Given the description of an element on the screen output the (x, y) to click on. 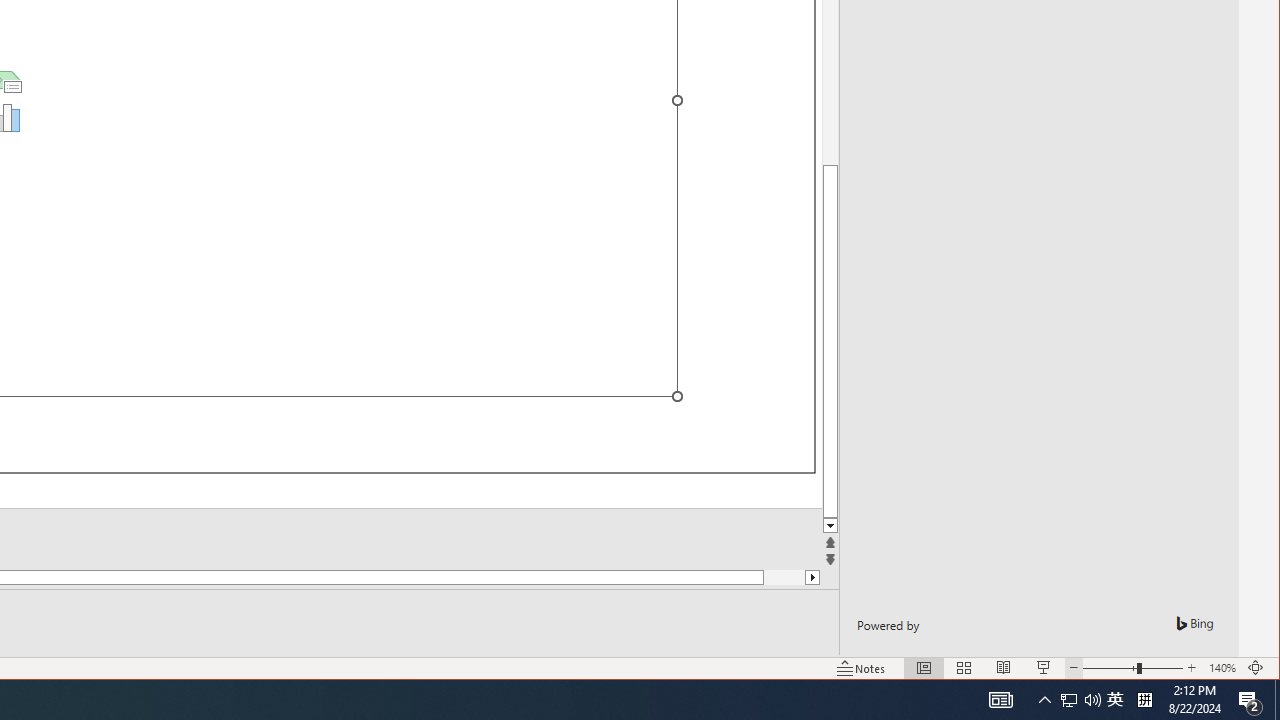
Tray Input Indicator - Chinese (Simplified, China) (1144, 699)
Notification Chevron (1044, 699)
AutomationID: 4105 (1000, 699)
Show desktop (1277, 699)
User Promoted Notification Area (1069, 699)
Action Center, 2 new notifications (1080, 699)
